Given the description of an element on the screen output the (x, y) to click on. 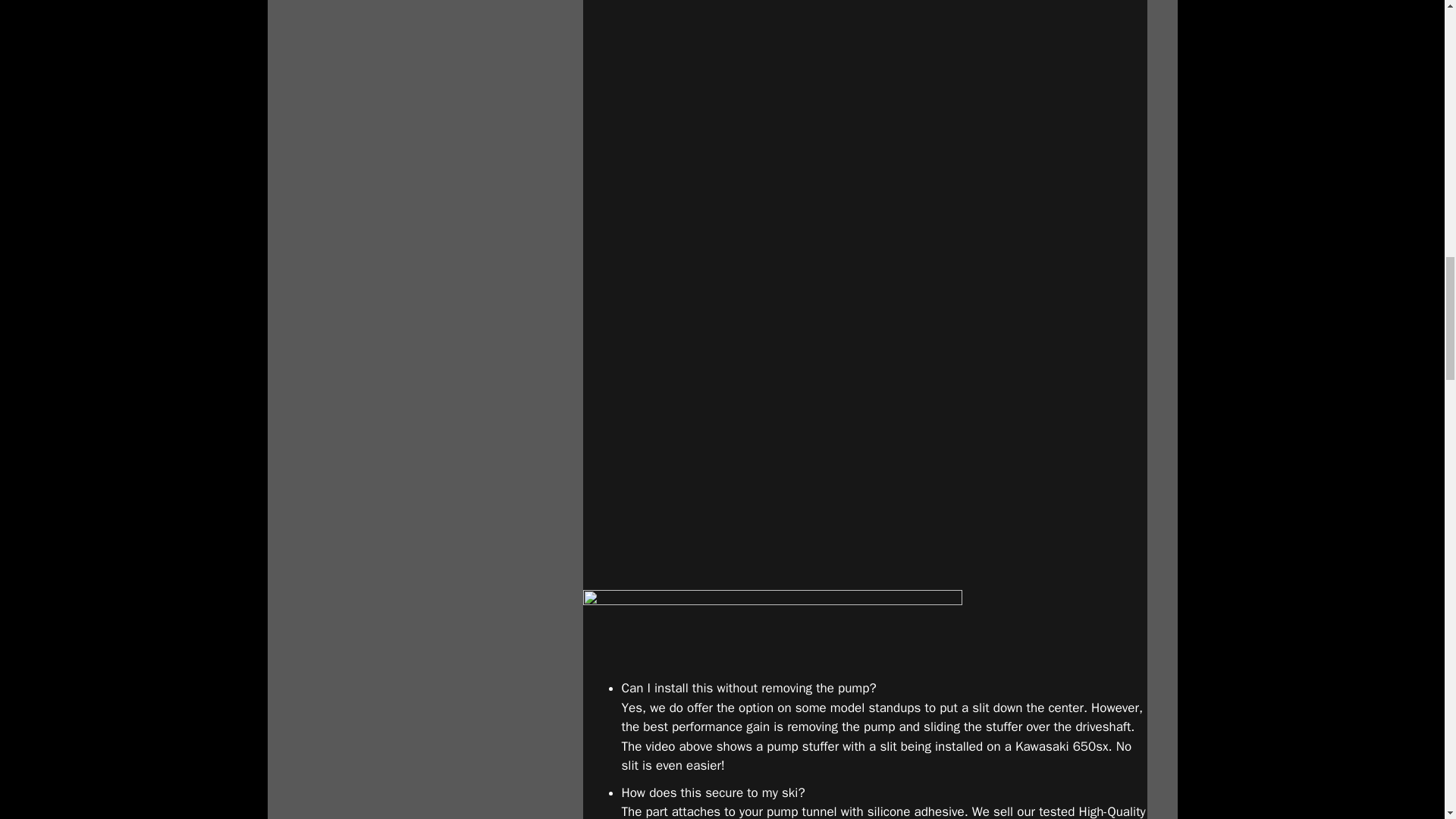
YouTube player (864, 99)
